Given the description of an element on the screen output the (x, y) to click on. 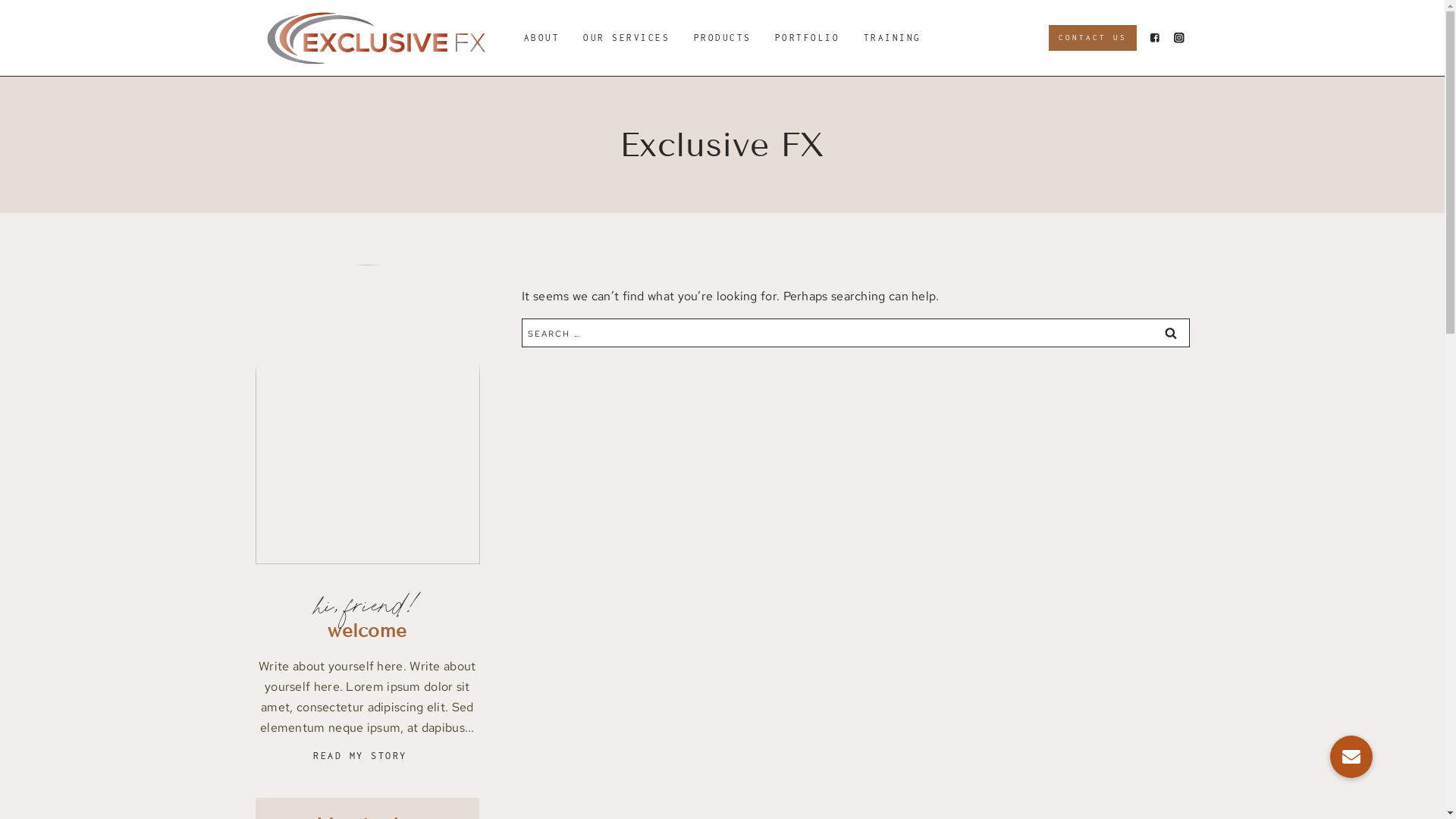
PRODUCTS Element type: text (721, 37)
OUR SERVICES Element type: text (626, 37)
TRAINING Element type: text (891, 37)
ABOUT Element type: text (541, 37)
PORTFOLIO Element type: text (806, 37)
CONTACT US Element type: text (1092, 37)
Search Element type: text (1170, 332)
